Given the description of an element on the screen output the (x, y) to click on. 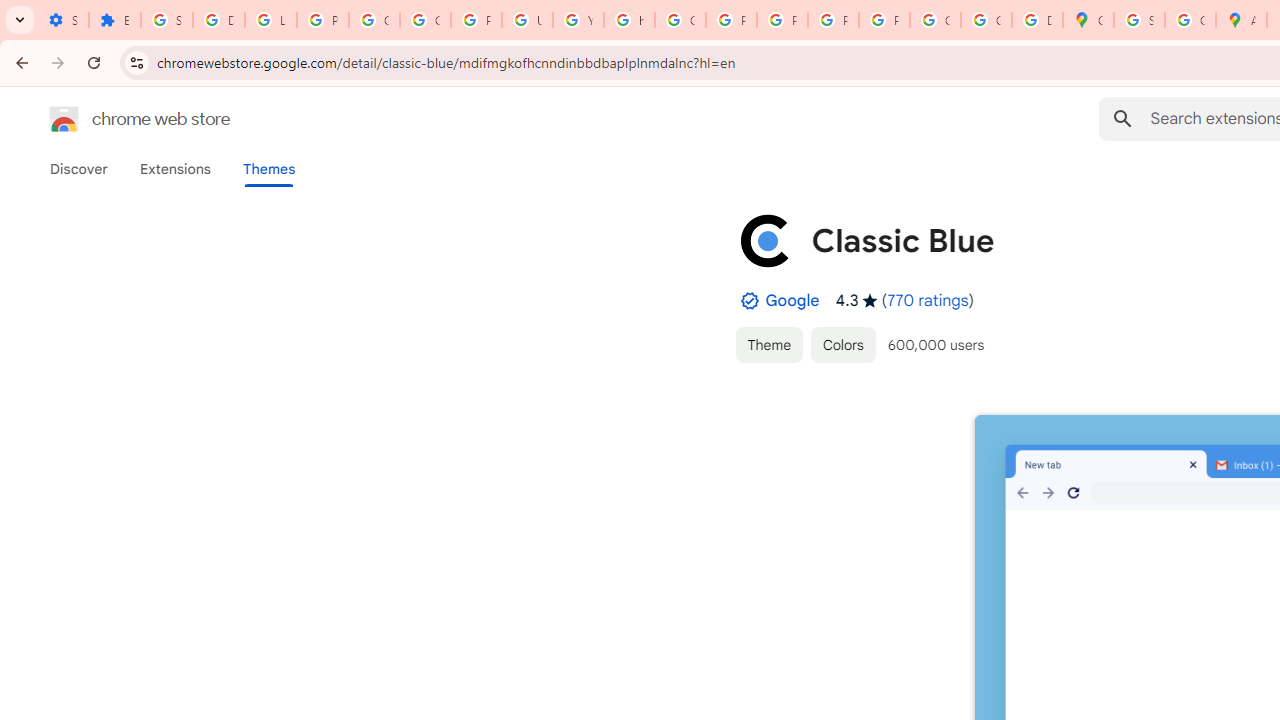
https://scholar.google.com/ (629, 20)
Discover (79, 169)
Extensions (174, 169)
Privacy Help Center - Policies Help (731, 20)
